Given the description of an element on the screen output the (x, y) to click on. 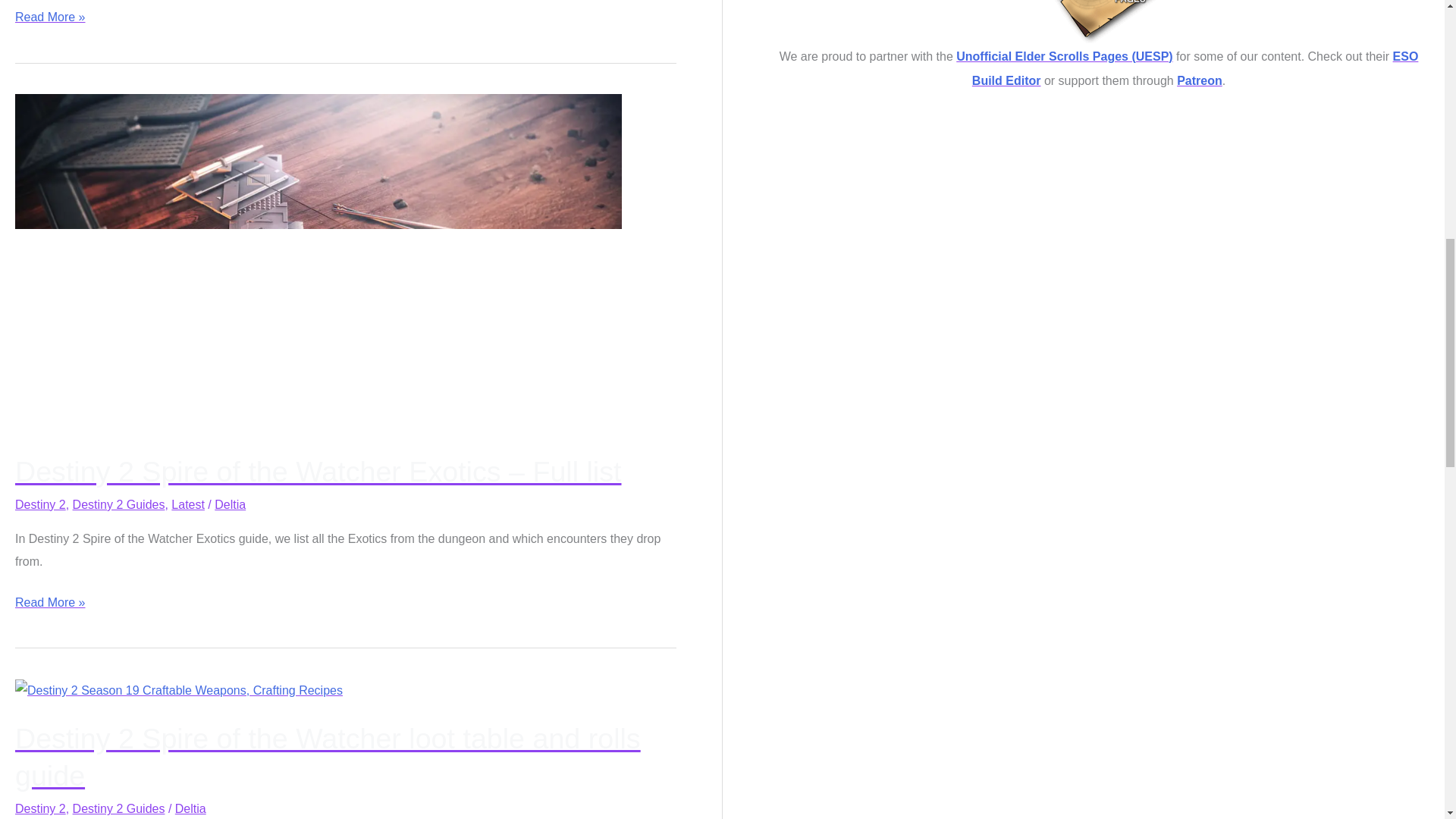
View all posts by Deltia (190, 808)
View all posts by Deltia (230, 504)
